Given the description of an element on the screen output the (x, y) to click on. 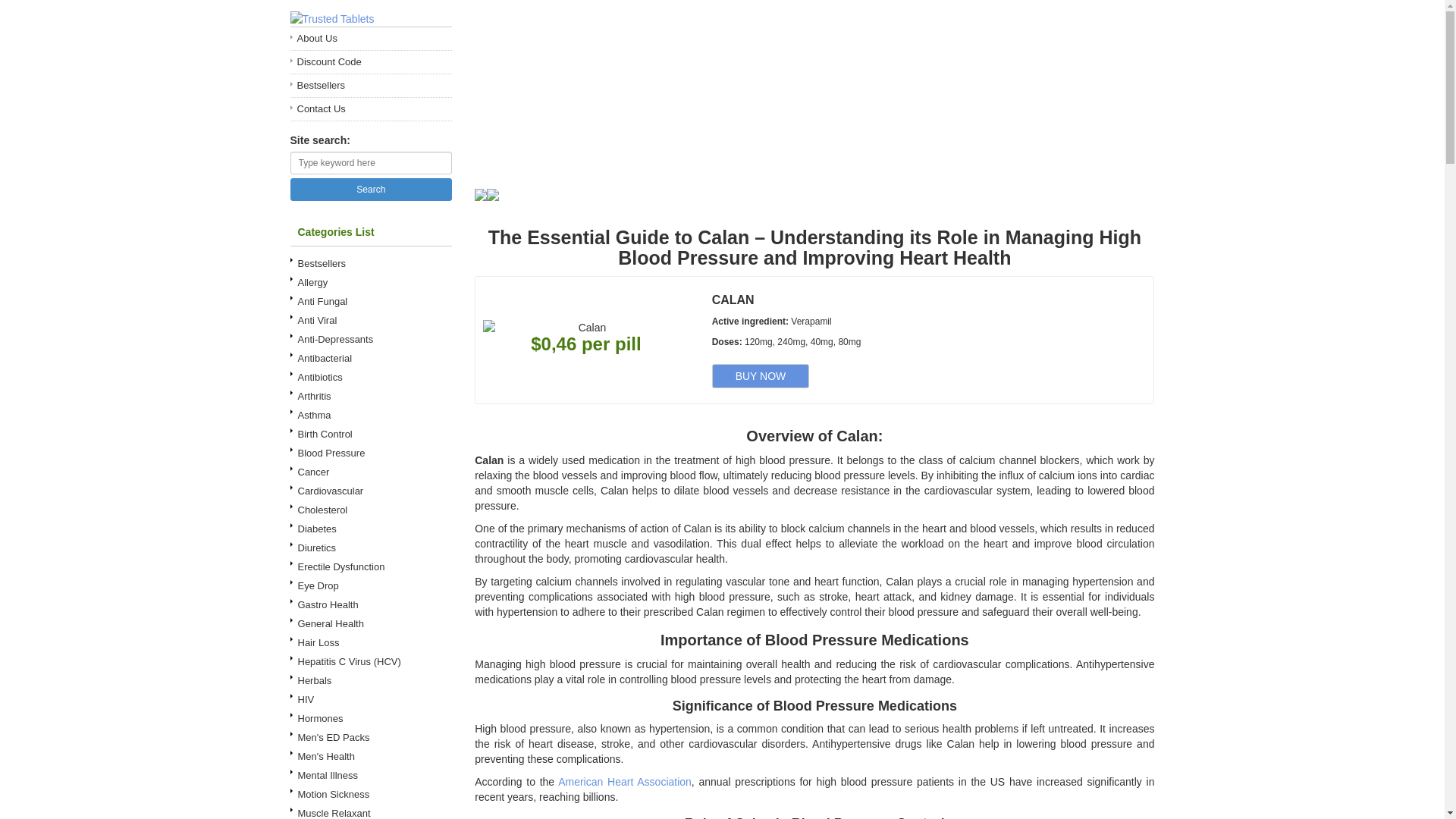
About Us (370, 38)
Blood Pressure (370, 452)
Trusted Tablets (331, 18)
Antibacterial (370, 357)
Asthma (370, 415)
Search (370, 189)
Contact Us (370, 109)
Eye Drop (370, 585)
Arthritis (370, 395)
Antibiotics (370, 376)
